Given the description of an element on the screen output the (x, y) to click on. 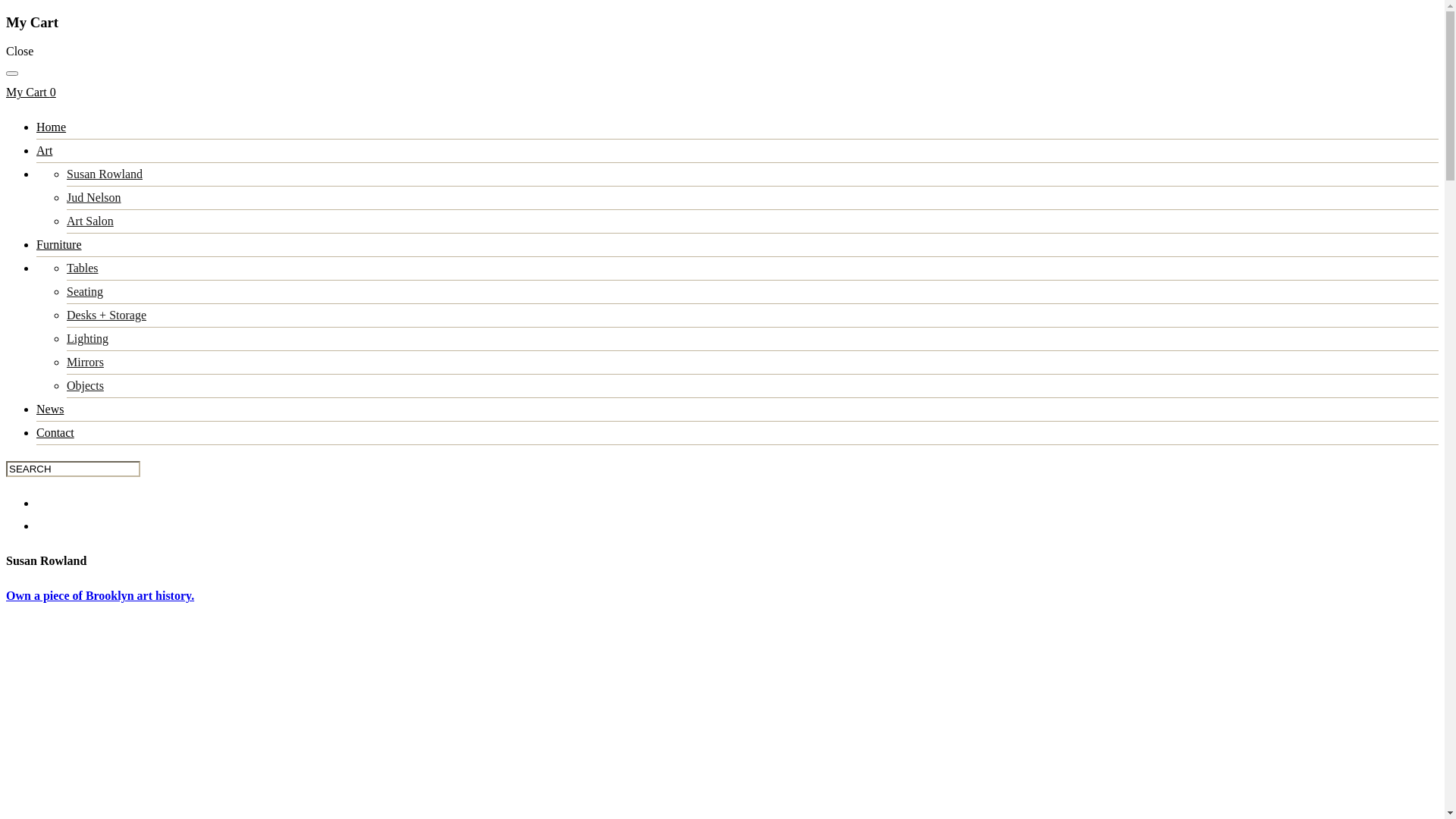
Art Salon Element type: text (89, 220)
Own a piece of Brooklyn art history. Element type: text (100, 595)
Art Element type: text (44, 150)
News Element type: text (49, 408)
Lighting Element type: text (87, 338)
Mirrors Element type: text (84, 361)
Home Element type: text (50, 126)
Susan Rowland Element type: text (104, 173)
Furniture Element type: text (58, 244)
My Cart 0 Element type: text (31, 91)
Seating Element type: text (84, 291)
Desks + Storage Element type: text (106, 314)
Jud Nelson Element type: text (93, 197)
Contact Element type: text (55, 432)
Objects Element type: text (84, 385)
Tables Element type: text (82, 267)
